Given the description of an element on the screen output the (x, y) to click on. 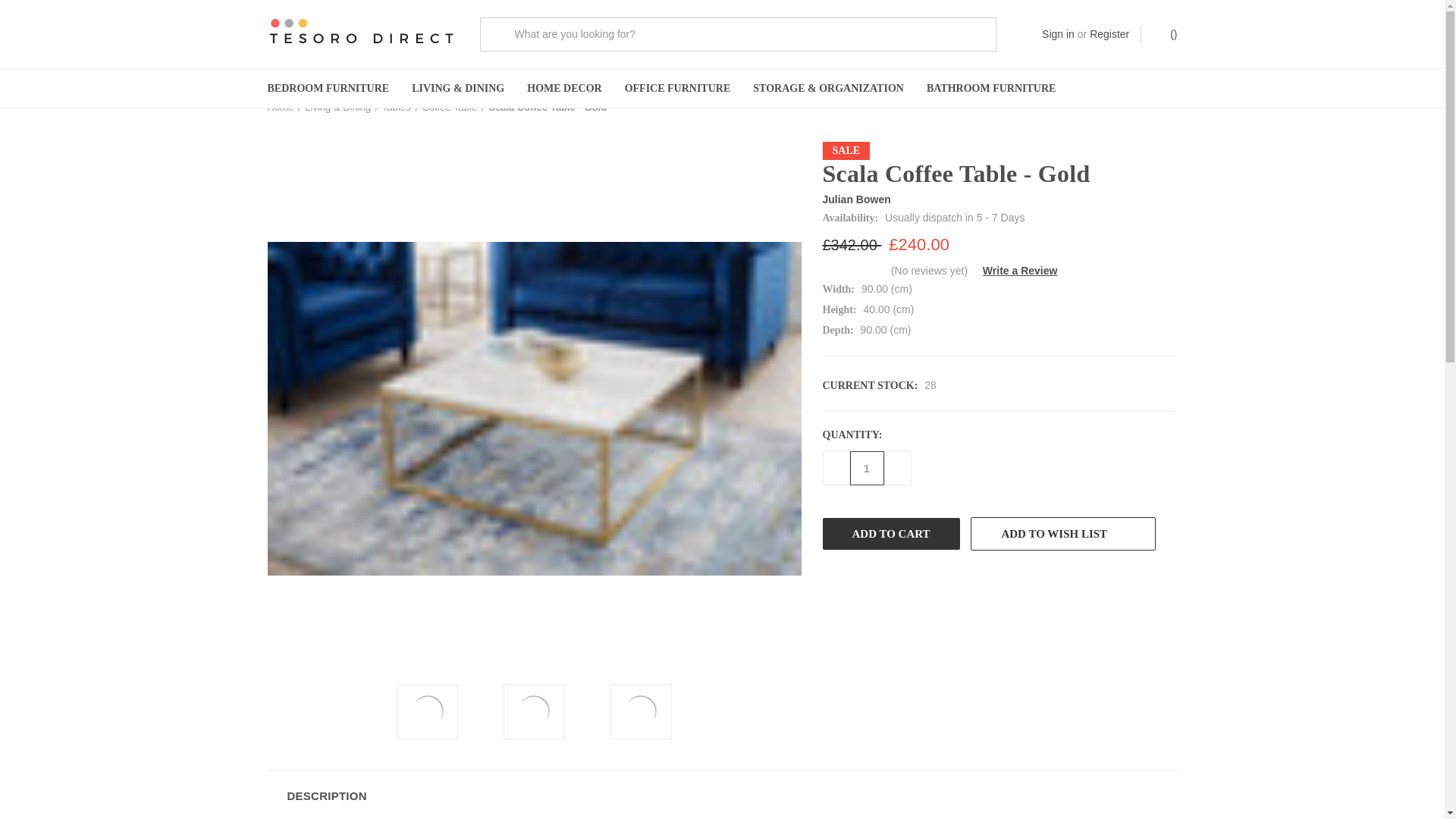
SCALA COFFEE TABLE - GOLD (640, 711)
Sign in (1058, 33)
SCALA COFFEE TABLE - GOLD (427, 711)
BEDROOM FURNITURE (328, 87)
1 (865, 468)
Add to Cart (890, 533)
SCALA COFFEE TABLE - GOLD (534, 711)
Tesoro Direct (361, 34)
Register (1109, 33)
